Given the description of an element on the screen output the (x, y) to click on. 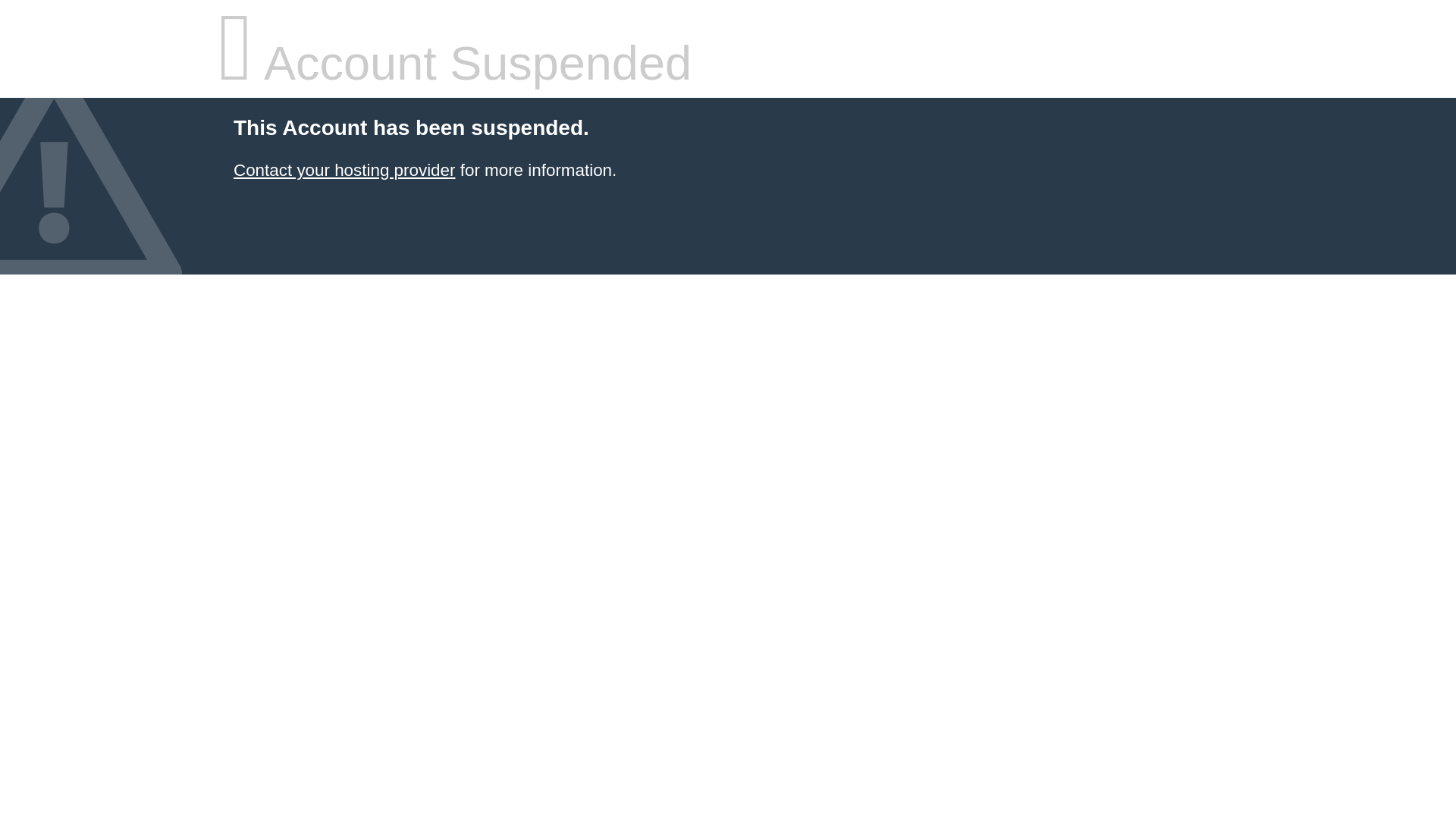
Contact your hosting provider (343, 169)
